Given the description of an element on the screen output the (x, y) to click on. 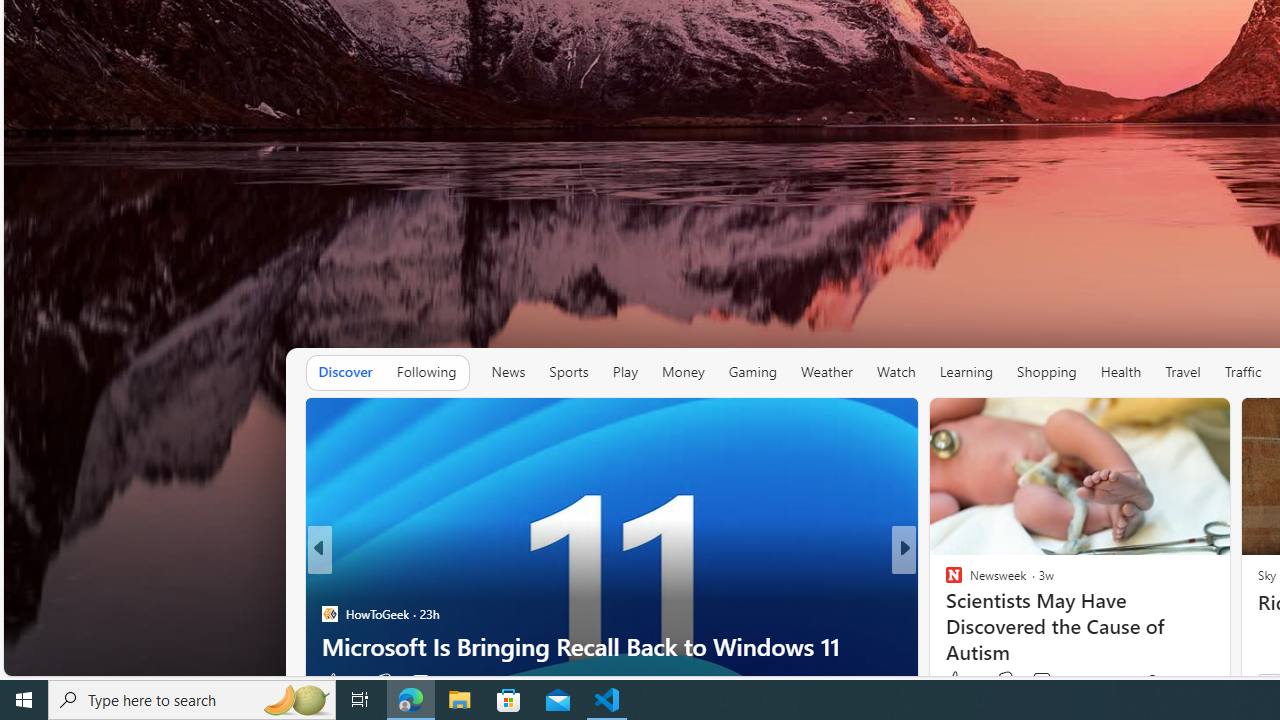
View comments 429 Comment (1041, 679)
You're following Newsweek (1179, 679)
View comments 429 Comment (1053, 680)
68 Like (956, 681)
56 Like (956, 681)
View comments 11 Comment (1036, 681)
View comments 23 Comment (1051, 681)
41 Like (956, 681)
12 Like (340, 681)
View comments 62 Comment (1036, 681)
View comments 3 Comment (1036, 681)
